Given the description of an element on the screen output the (x, y) to click on. 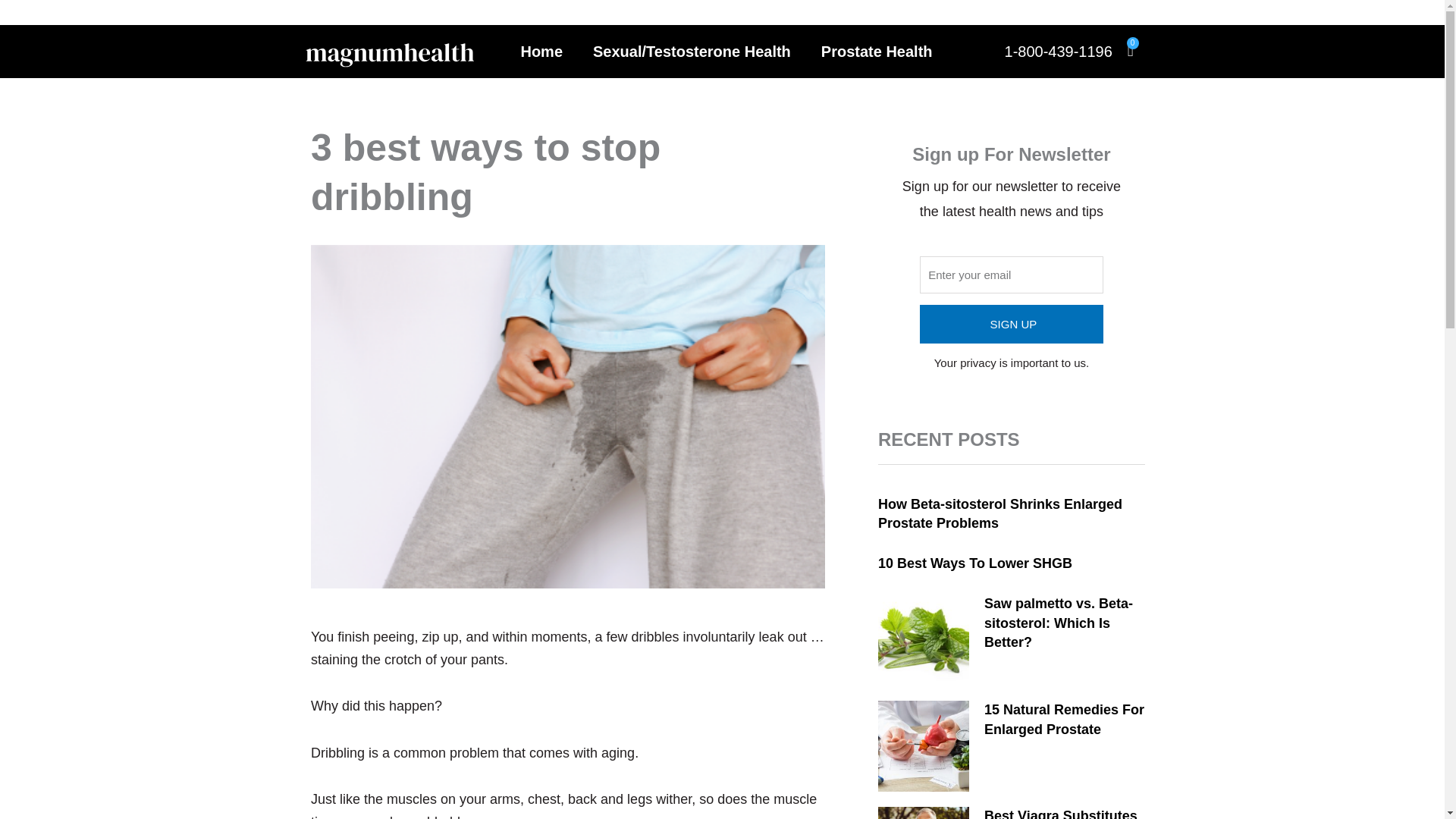
SIGN UP (1011, 323)
Best Viagra Substitutes Without Side Effects (1060, 813)
1-800-439-1196 (1058, 51)
Saw palmetto vs. Beta-sitosterol: Which Is Better? (1058, 622)
10 Best Ways To Lower SHGB (974, 563)
Home (541, 51)
15 Natural Remedies For Enlarged Prostate (1064, 718)
How Beta-sitosterol Shrinks Enlarged Prostate Problems (999, 513)
Prostate Health (876, 51)
